Given the description of an element on the screen output the (x, y) to click on. 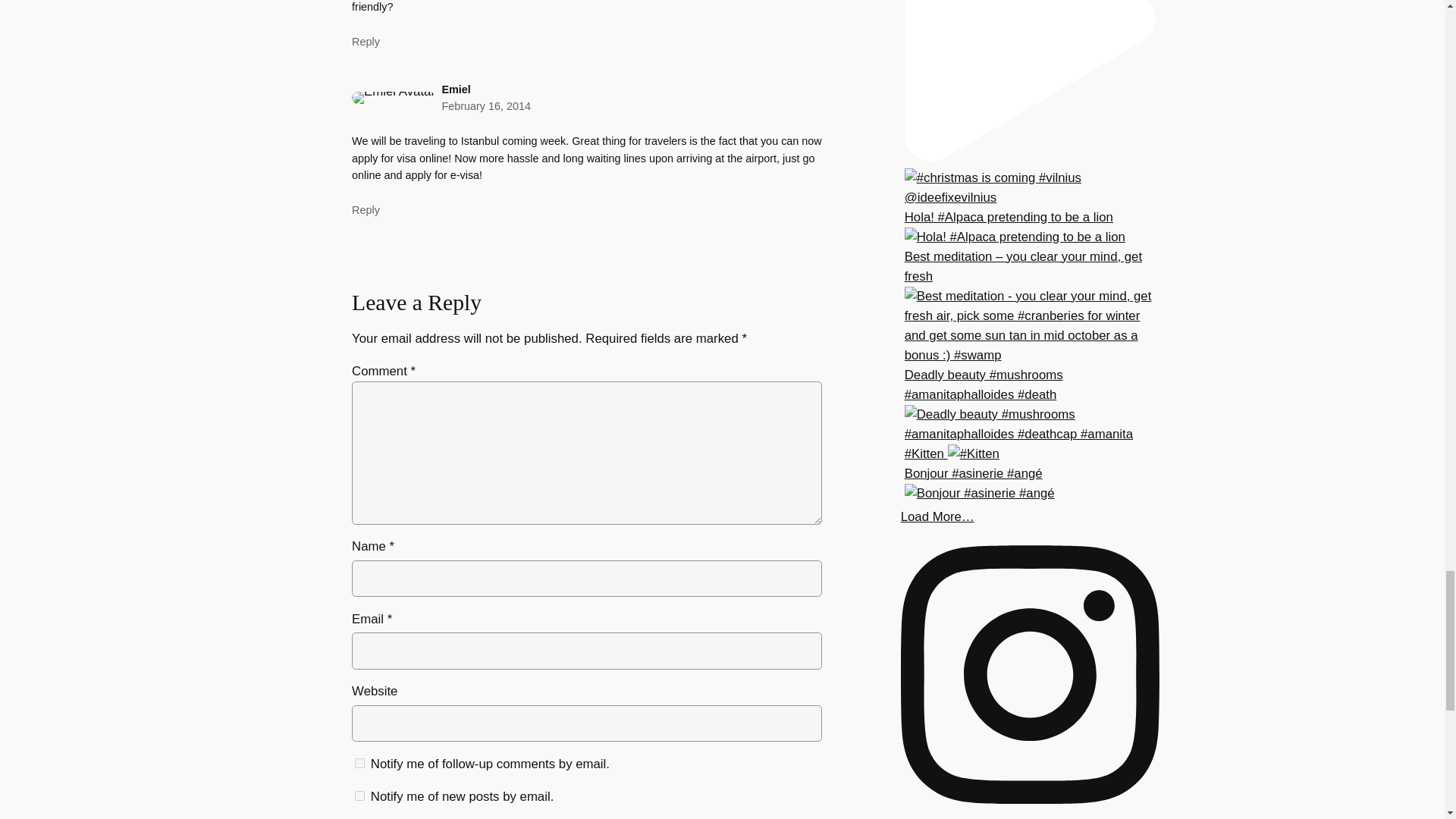
subscribe (360, 763)
subscribe (360, 795)
